Given the description of an element on the screen output the (x, y) to click on. 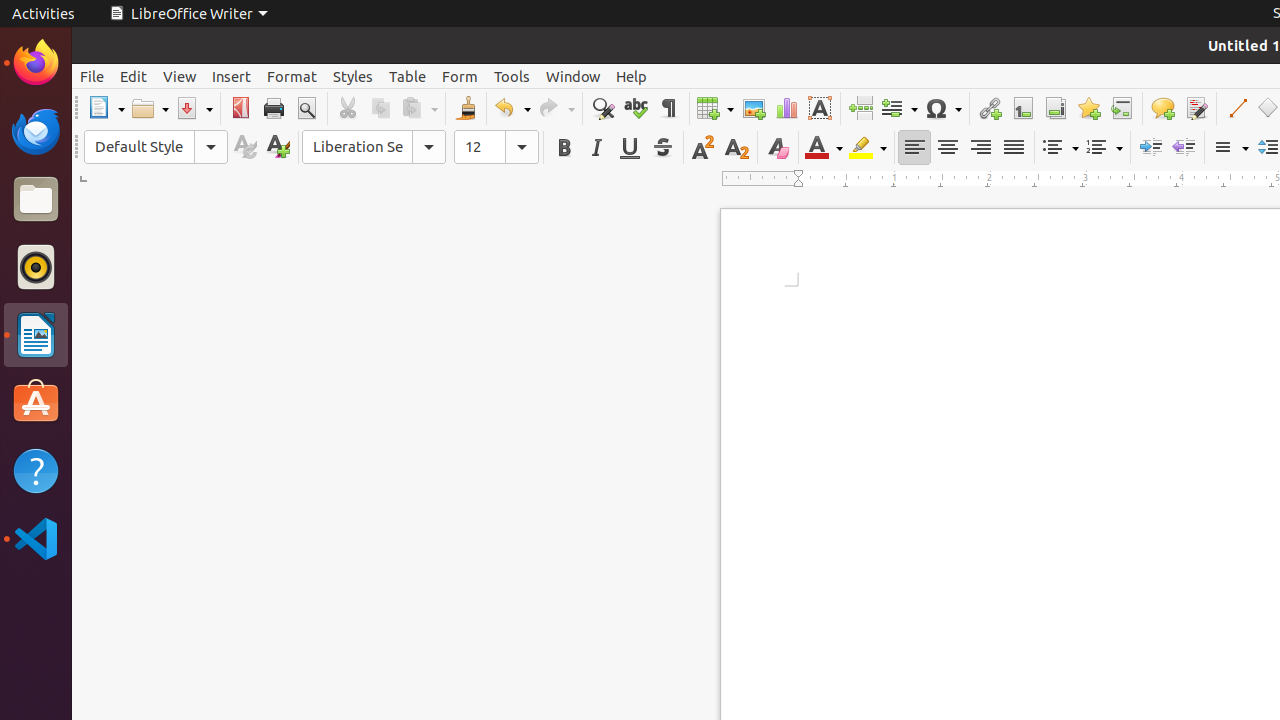
Help Element type: menu (631, 76)
Cross-reference Element type: push-button (1121, 108)
Line Spacing Element type: push-button (1230, 147)
Line Element type: toggle-button (1236, 108)
Font Name Element type: combo-box (374, 147)
